Given the description of an element on the screen output the (x, y) to click on. 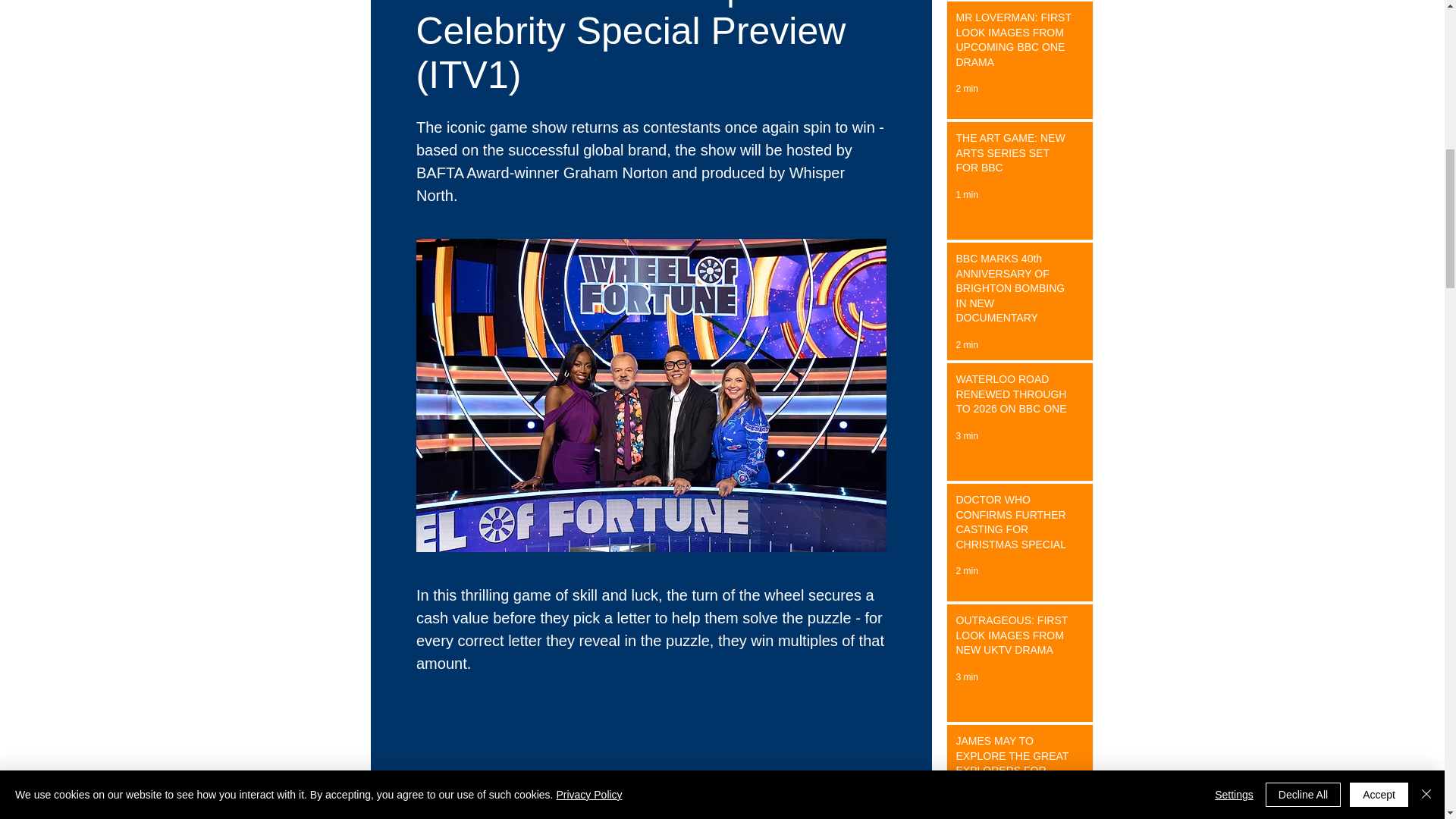
3 min (965, 676)
MR LOVERMAN: FIRST LOOK IMAGES FROM UPCOMING BBC ONE DRAMA (1014, 43)
3 min (965, 435)
WATERLOO ROAD RENEWED THROUGH TO 2026 ON BBC ONE (1014, 397)
2 min (965, 570)
OUTRAGEOUS: FIRST LOOK IMAGES FROM NEW UKTV DRAMA (1014, 638)
THE ART GAME: NEW ARTS SERIES SET FOR BBC (1014, 156)
2 min (965, 88)
DOCTOR WHO CONFIRMS FURTHER CASTING FOR CHRISTMAS SPECIAL (1014, 525)
